Given the description of an element on the screen output the (x, y) to click on. 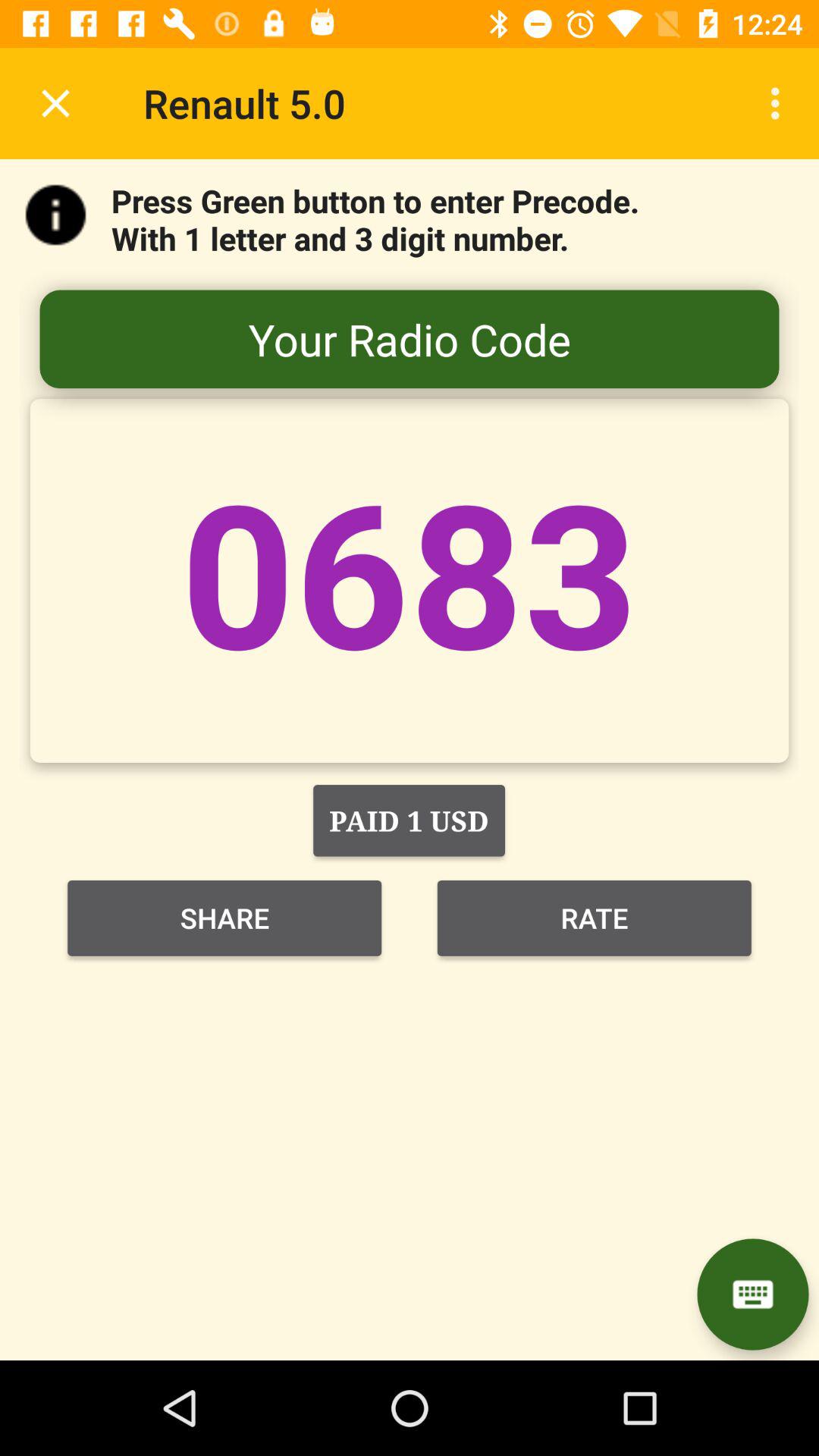
tap icon above your radio code item (779, 103)
